Given the description of an element on the screen output the (x, y) to click on. 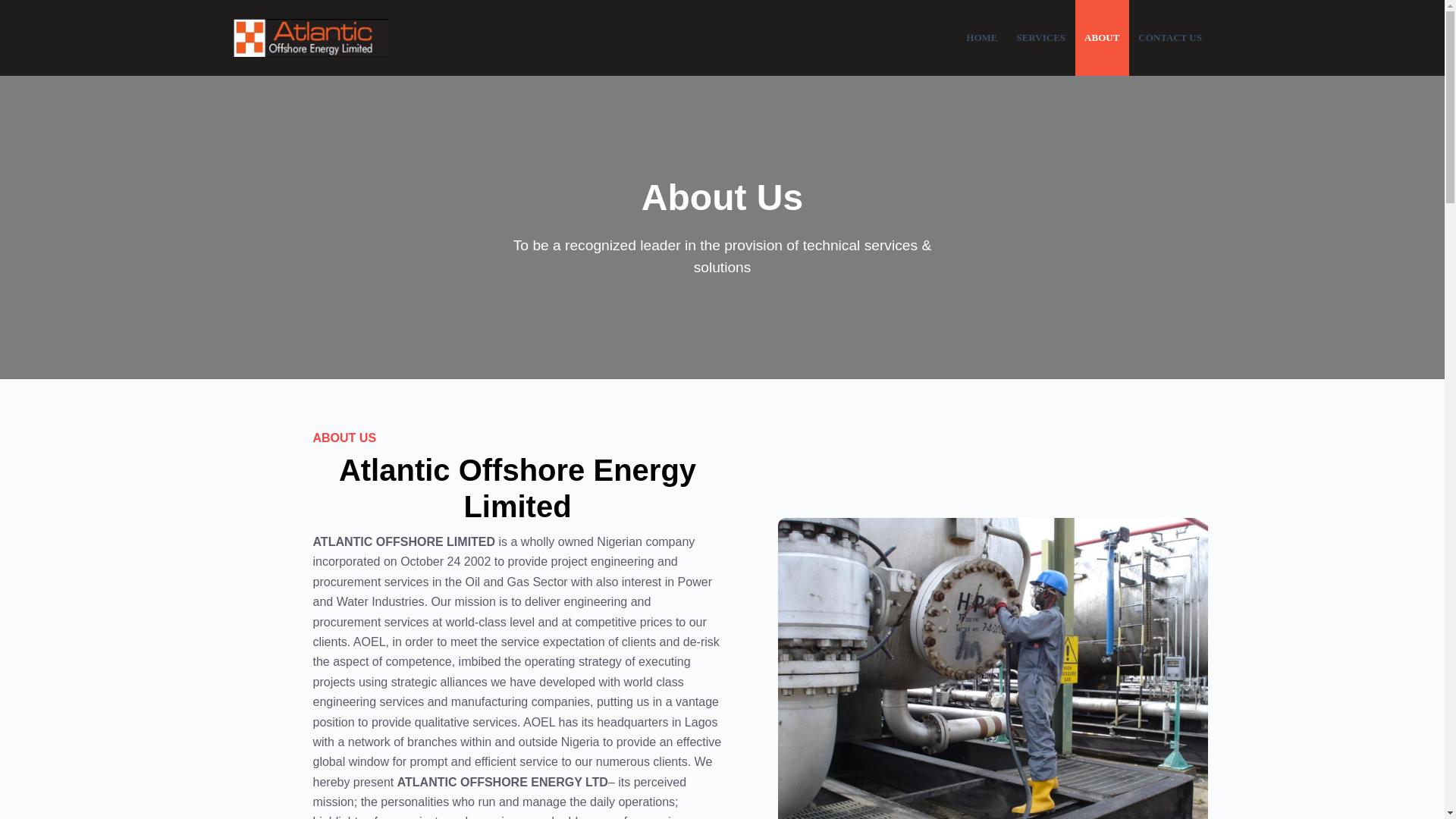
SERVICES (1041, 38)
HOME (981, 38)
Skip to content (15, 7)
CONTACT US (1170, 38)
ABOUT (1102, 38)
